Given the description of an element on the screen output the (x, y) to click on. 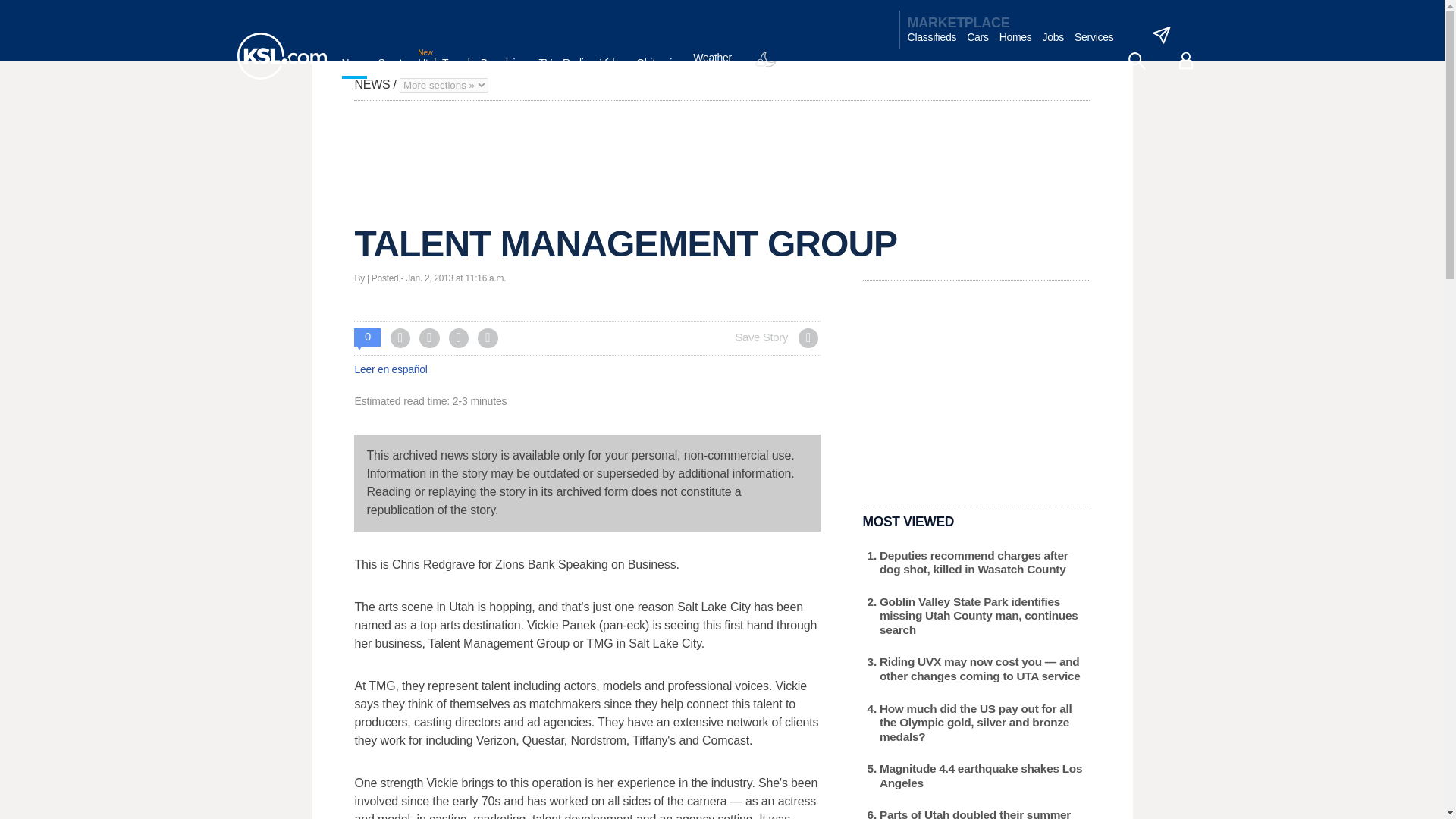
KSL homepage (280, 55)
account - logged out (1185, 60)
search (1135, 60)
